Given the description of an element on the screen output the (x, y) to click on. 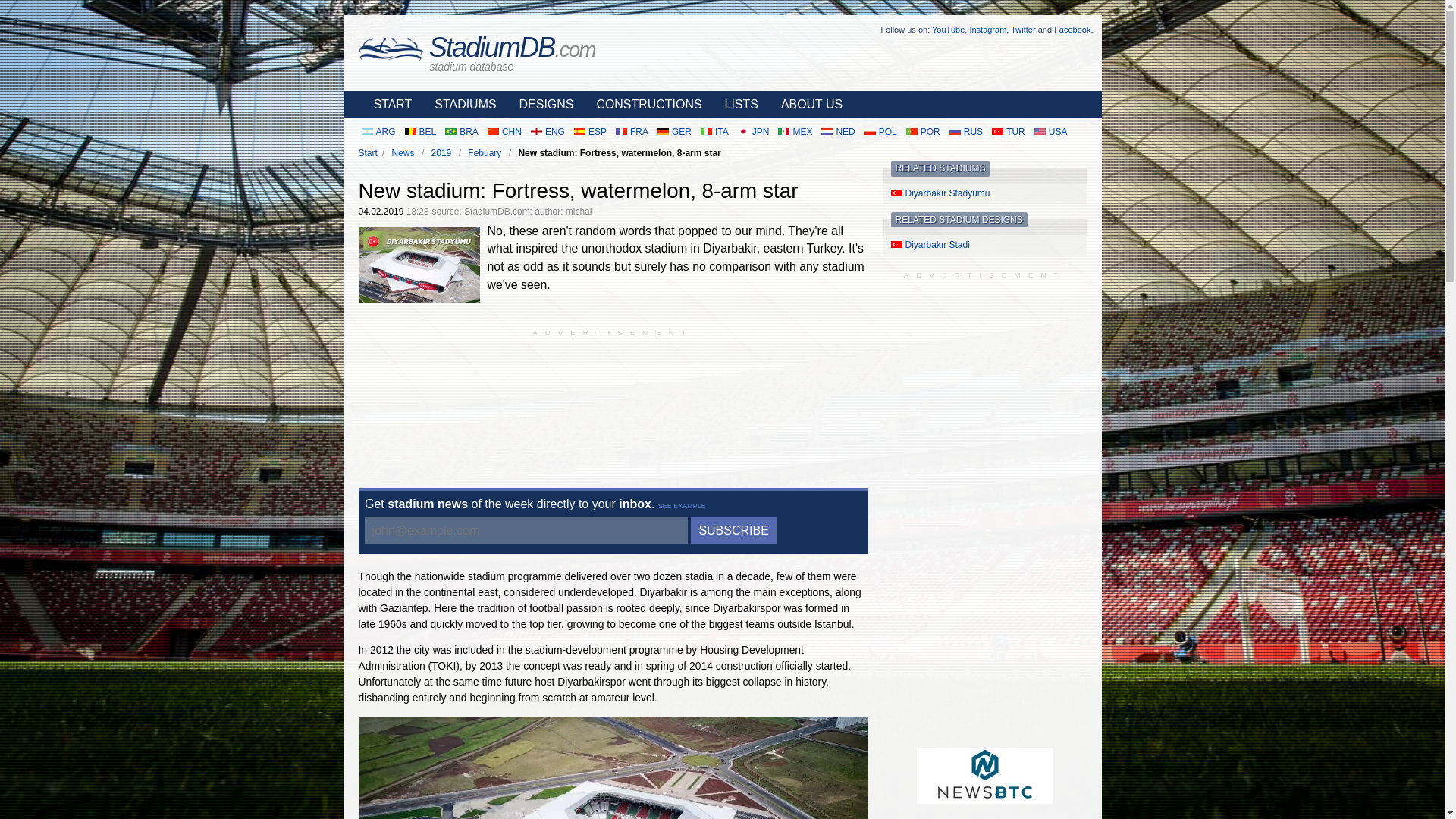
GER (673, 131)
Twitter (1022, 29)
Start (367, 153)
ENG (547, 131)
DESIGNS (541, 103)
RUS (965, 131)
ARG (377, 131)
Advertisement (612, 402)
NED (837, 131)
ESP (590, 131)
